Given the description of an element on the screen output the (x, y) to click on. 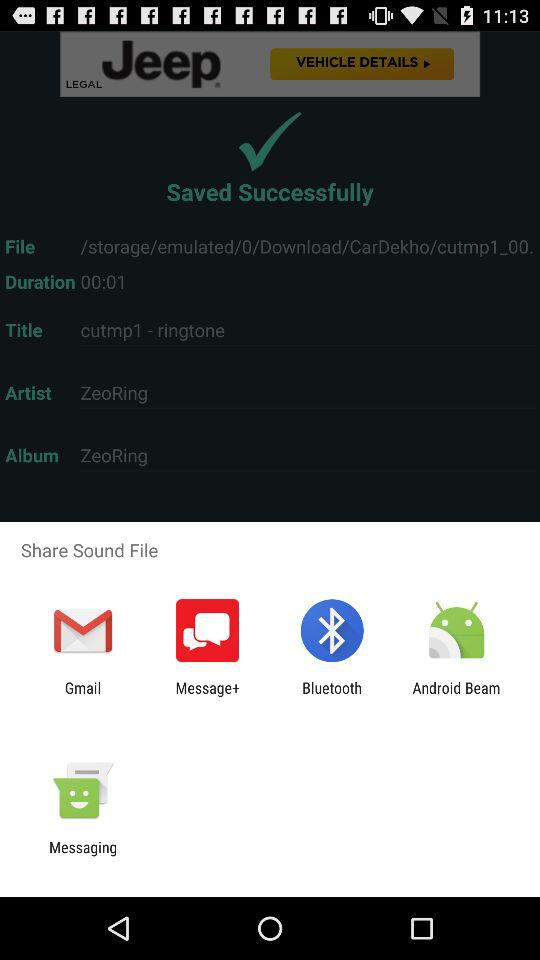
tap the icon next to message+ (82, 696)
